Given the description of an element on the screen output the (x, y) to click on. 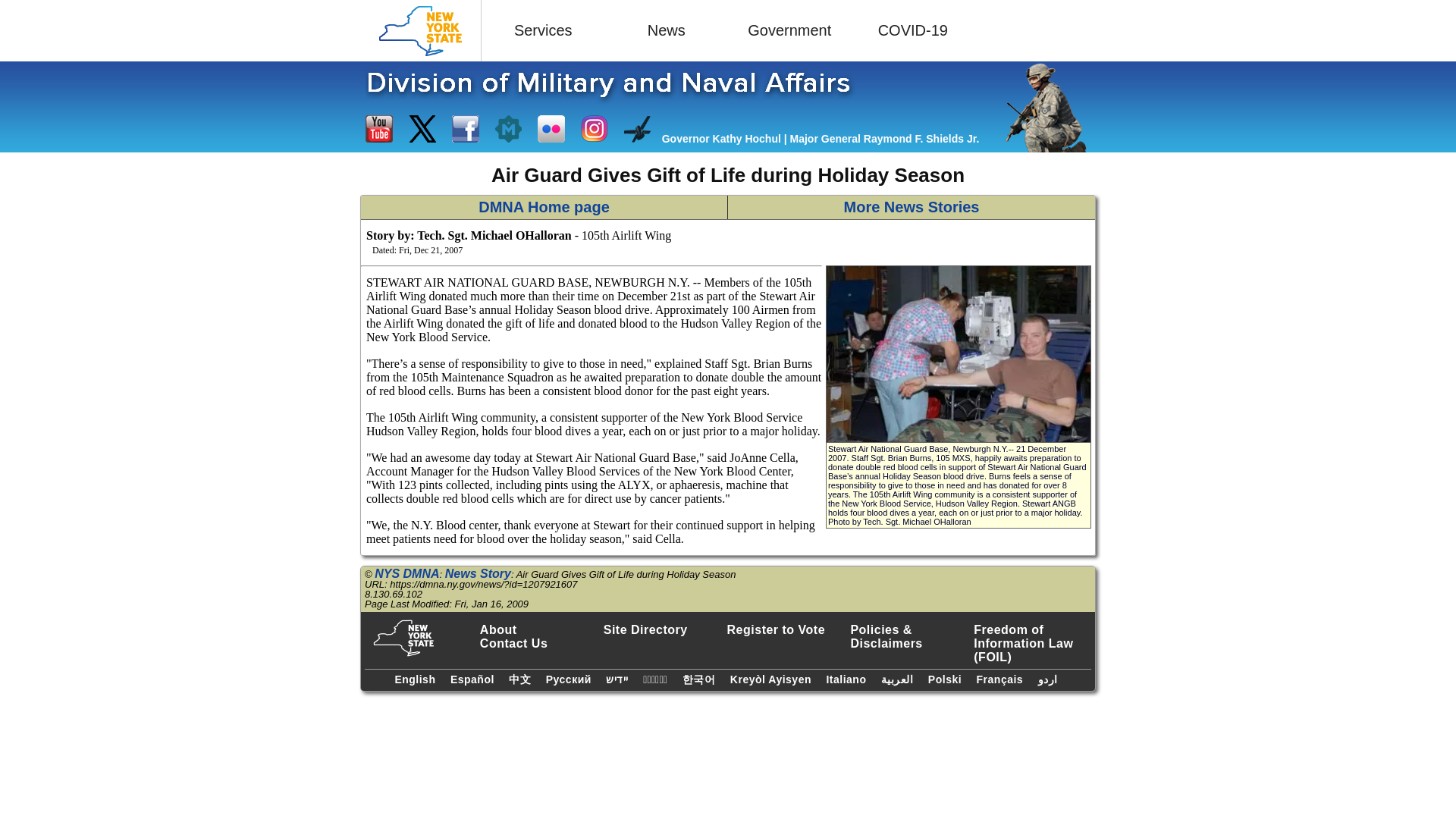
NYS DMNA (406, 573)
Korean (700, 678)
Contact Us (538, 643)
Contact NYS DMNA (538, 643)
Follow us on X (422, 128)
DMNA Home page (544, 207)
NYS DMNA Site Map (662, 630)
New York State Home (420, 30)
View our Flickr Photostream (550, 128)
News (667, 30)
Search our DVIDS Content (637, 128)
Chinese (521, 678)
Spanish (474, 677)
English (416, 677)
Register to Vote (785, 630)
